Given the description of an element on the screen output the (x, y) to click on. 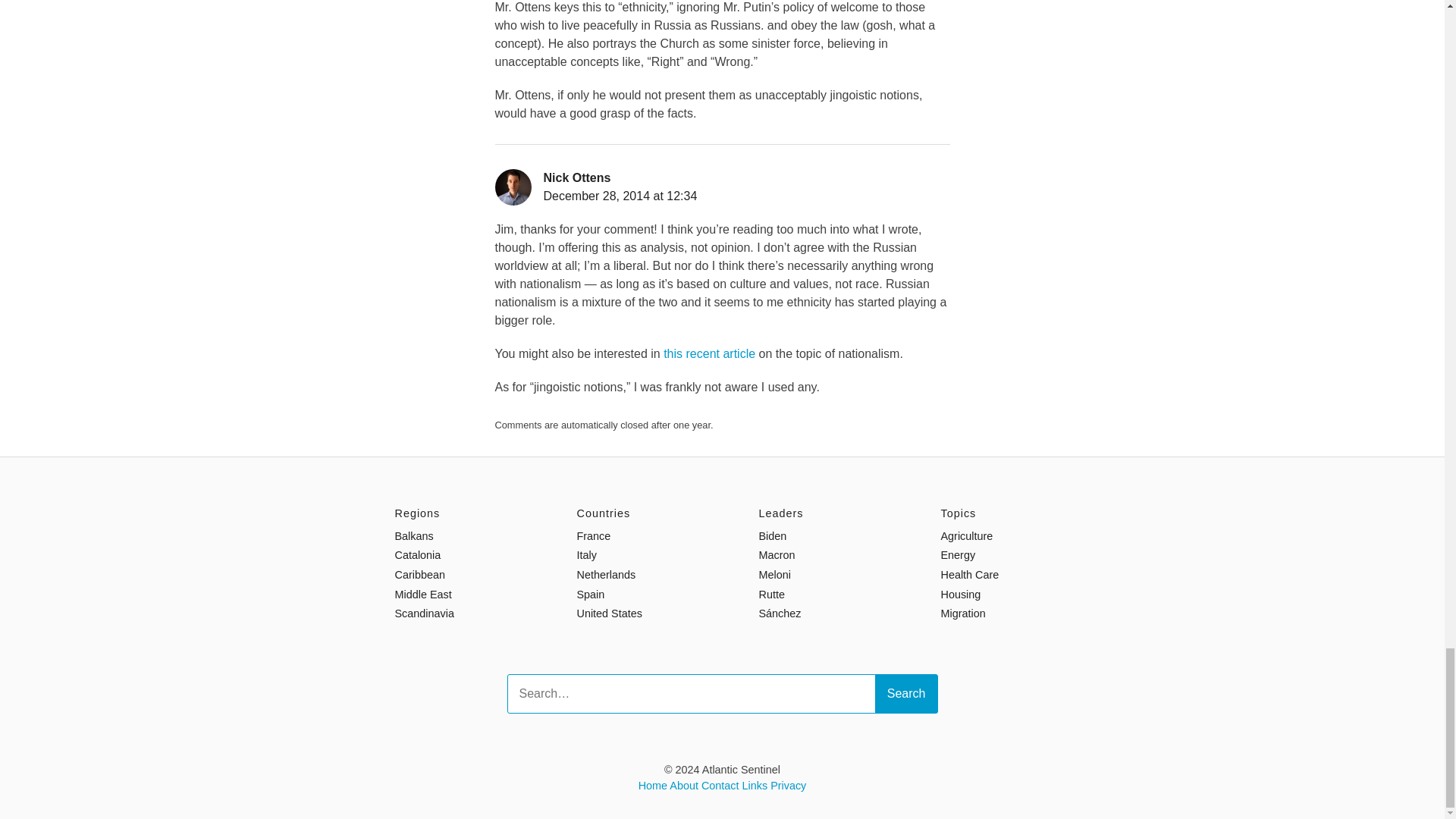
Italy (585, 554)
United States (609, 613)
Macron (776, 554)
Middle East (422, 594)
Italy (585, 554)
Biden (772, 535)
Nick Ottens (576, 177)
Catalonia (417, 554)
United States (609, 613)
Scandinavia (423, 613)
Biden (772, 535)
Balkans (413, 535)
France (593, 535)
Balkans (413, 535)
Macron (776, 554)
